Given the description of an element on the screen output the (x, y) to click on. 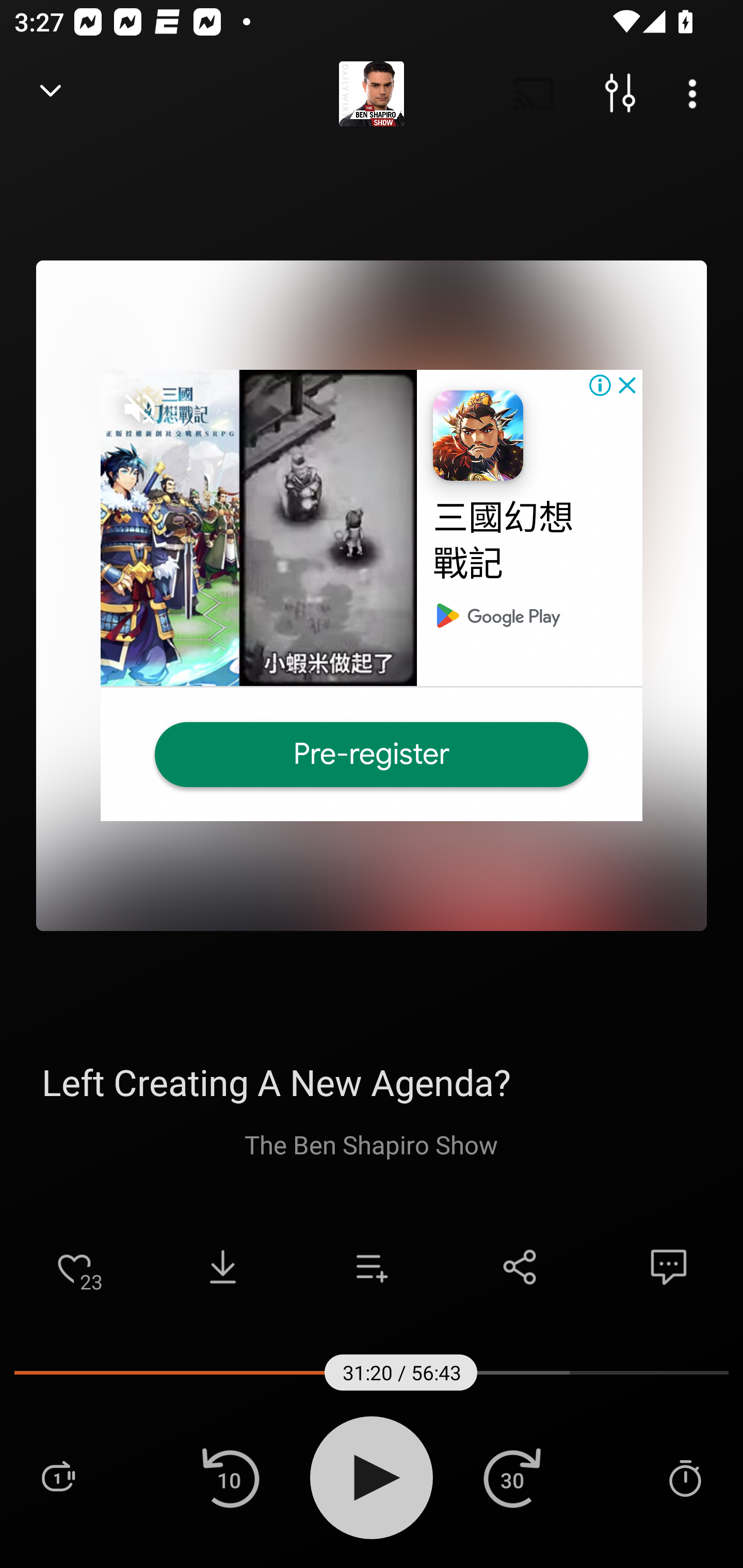
Cast. Disconnected (533, 93)
 Back (50, 94)
三國幻想
戰記 Pre-register Pre-register (371, 595)
Pre-register (371, 753)
Ep. 574 - Is The Left Creating A New Agenda? (371, 1081)
The Ben Shapiro Show (371, 1144)
Comments (668, 1266)
Add to Favorites (73, 1266)
Share (519, 1266)
 Playlist (57, 1477)
Sleep Timer  (684, 1477)
